Given the description of an element on the screen output the (x, y) to click on. 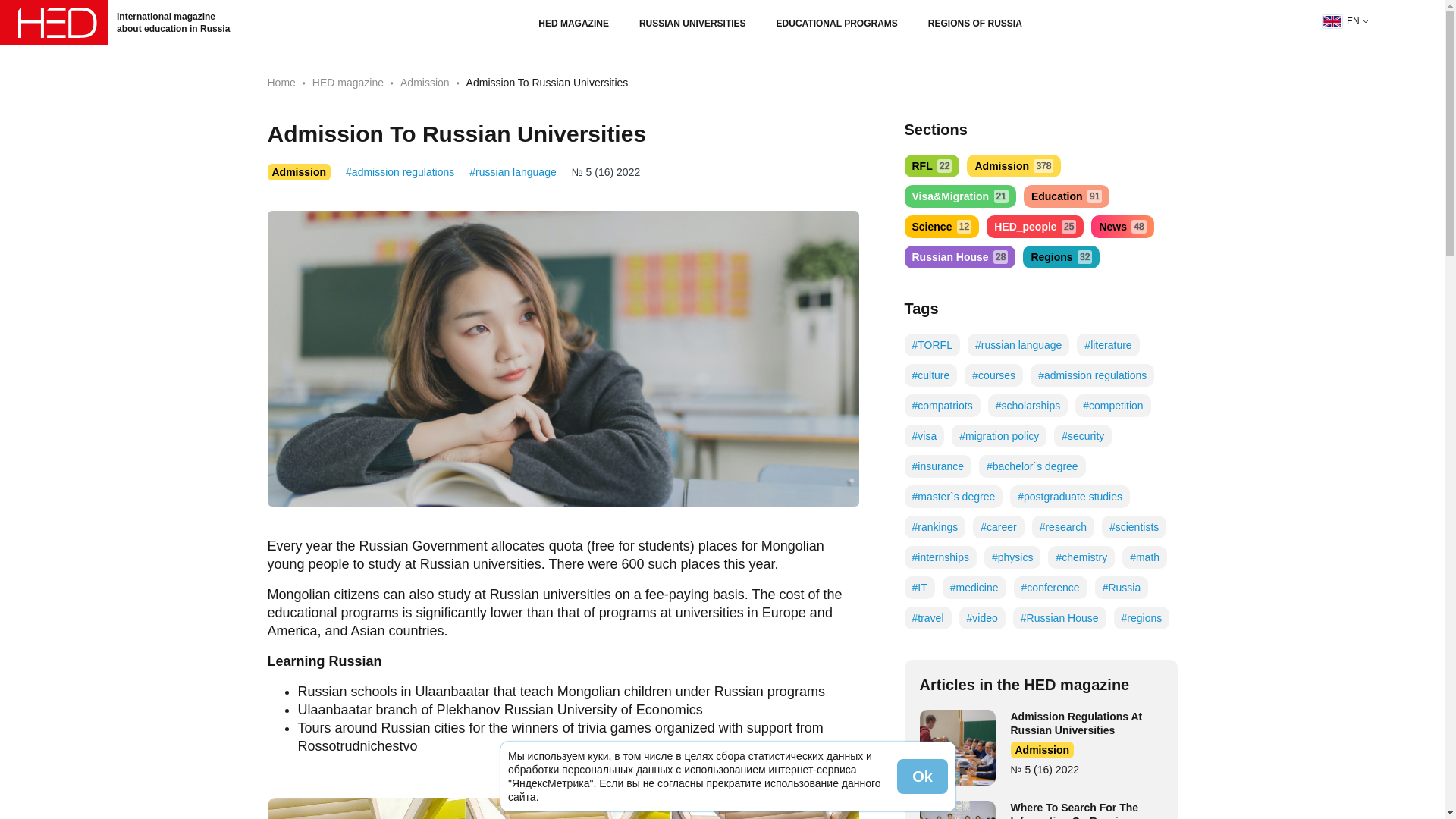
EN (1345, 20)
Home (280, 82)
RUSSIAN UNIVERSITIES (959, 256)
HED magazine (692, 23)
International magazine about education in Russia (348, 82)
REGIONS OF RUSSIA (1061, 256)
